Given the description of an element on the screen output the (x, y) to click on. 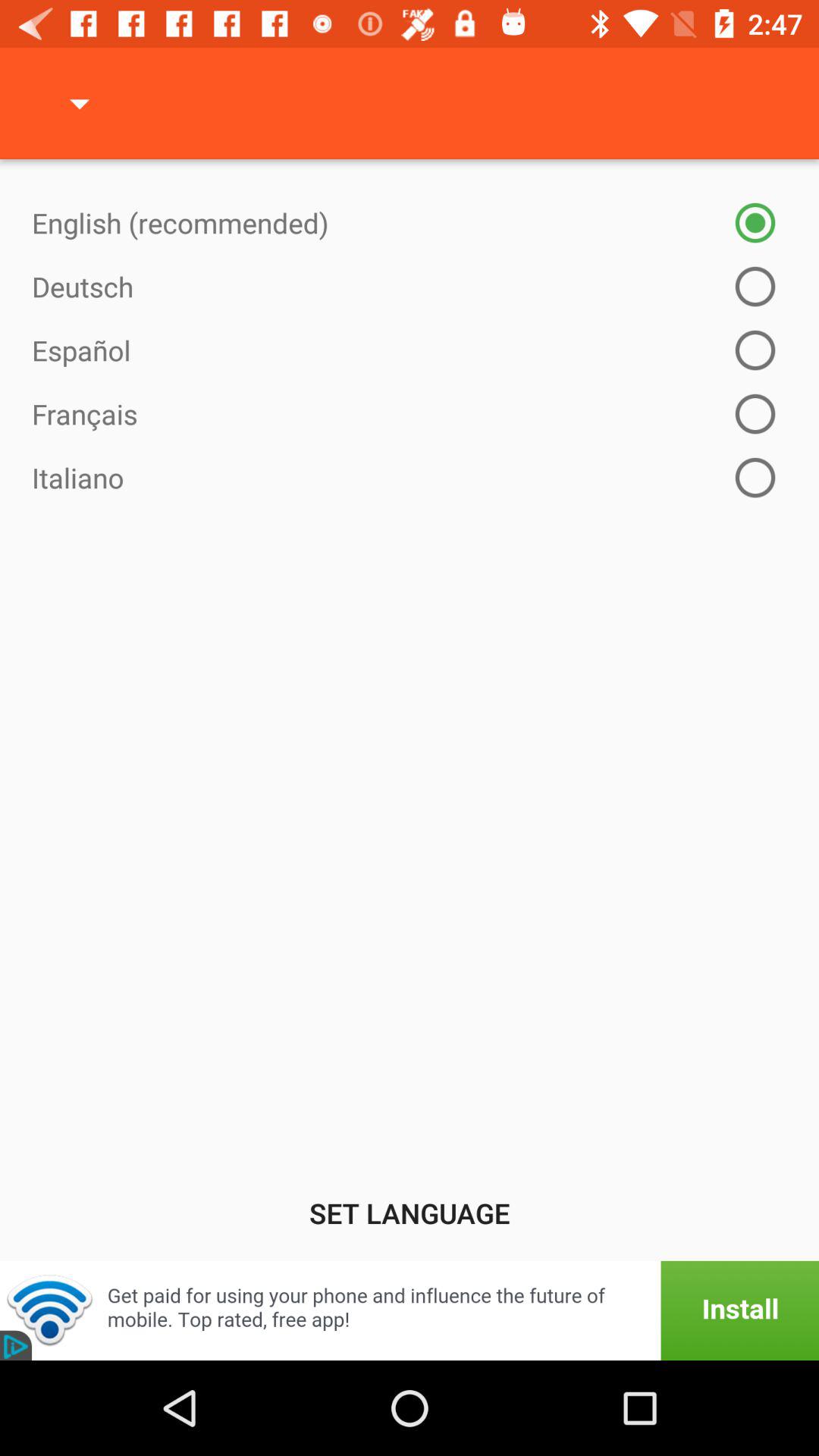
go to add (409, 1310)
